Given the description of an element on the screen output the (x, y) to click on. 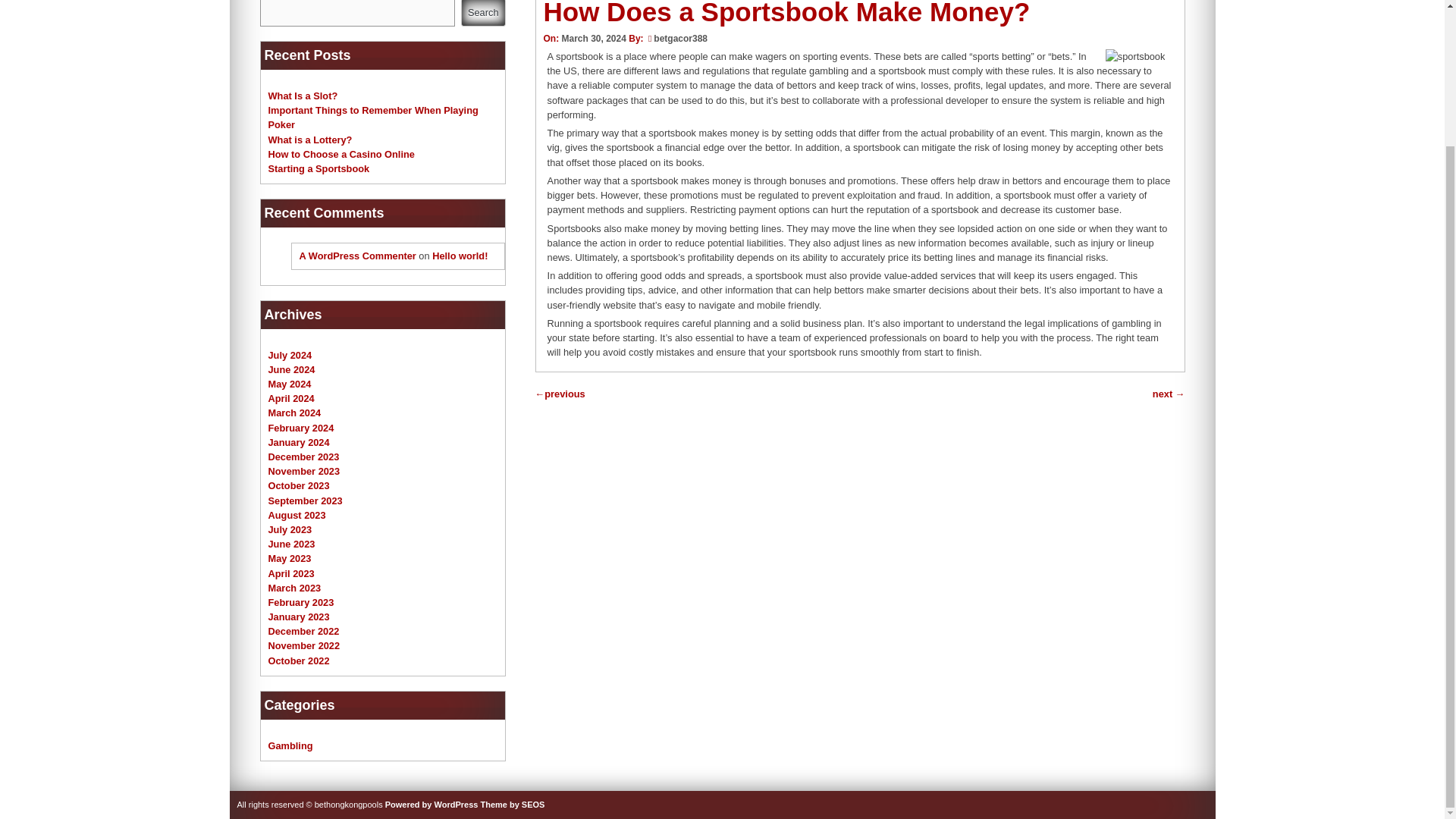
Hello world! (459, 255)
How to Choose a Casino Online (340, 153)
June 2023 (291, 543)
May 2024 (289, 383)
December 2022 (303, 631)
April 2023 (290, 572)
What Is a Slot? (302, 95)
May 2023 (289, 558)
July 2023 (290, 529)
October 2023 (298, 485)
October 2022 (298, 660)
A WordPress Commenter (356, 255)
betgacor388 (680, 38)
April 2024 (290, 398)
November 2022 (303, 645)
